Given the description of an element on the screen output the (x, y) to click on. 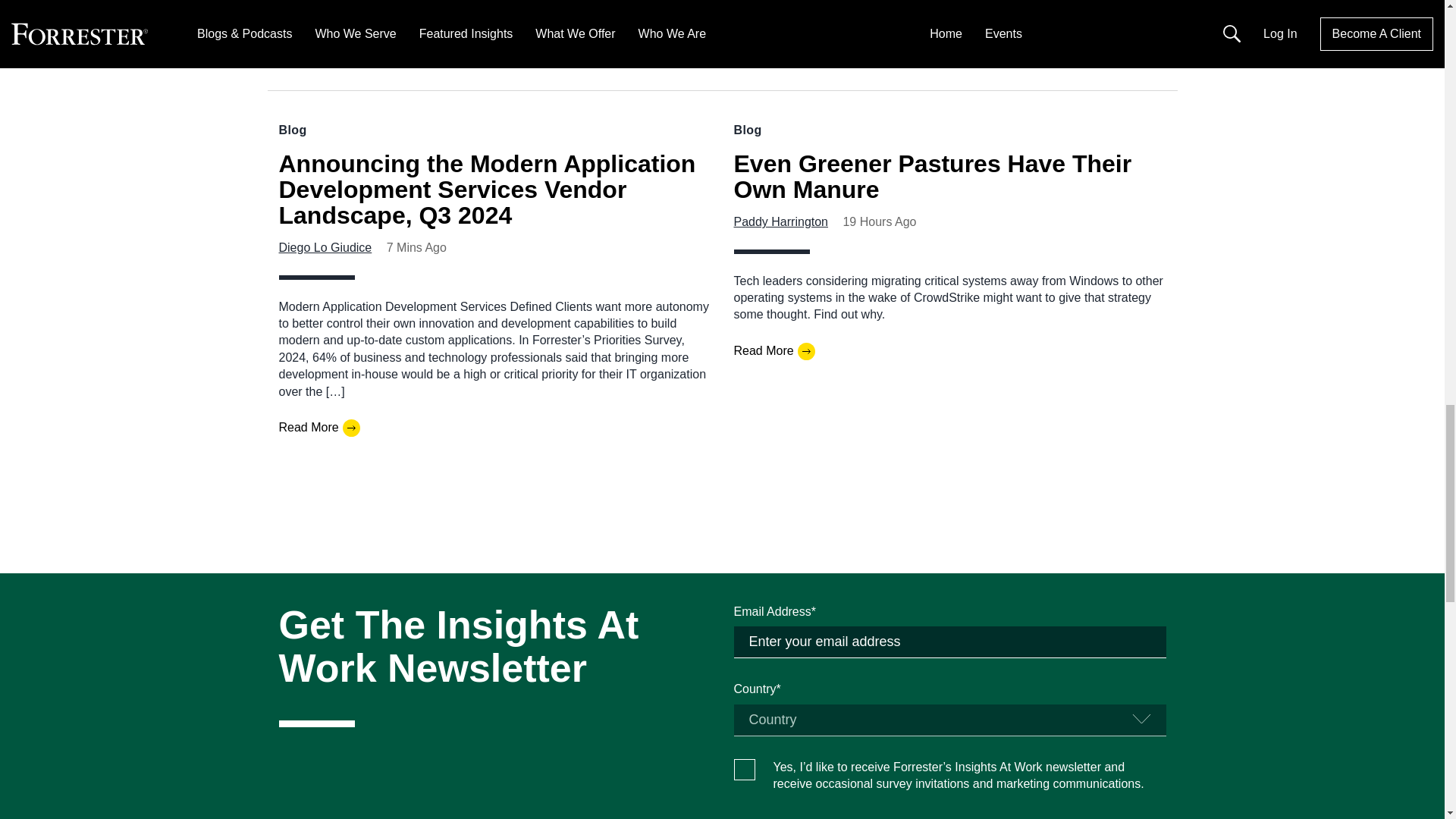
Paddy Harrington (780, 221)
Diego Lo Giudice (325, 246)
